Given the description of an element on the screen output the (x, y) to click on. 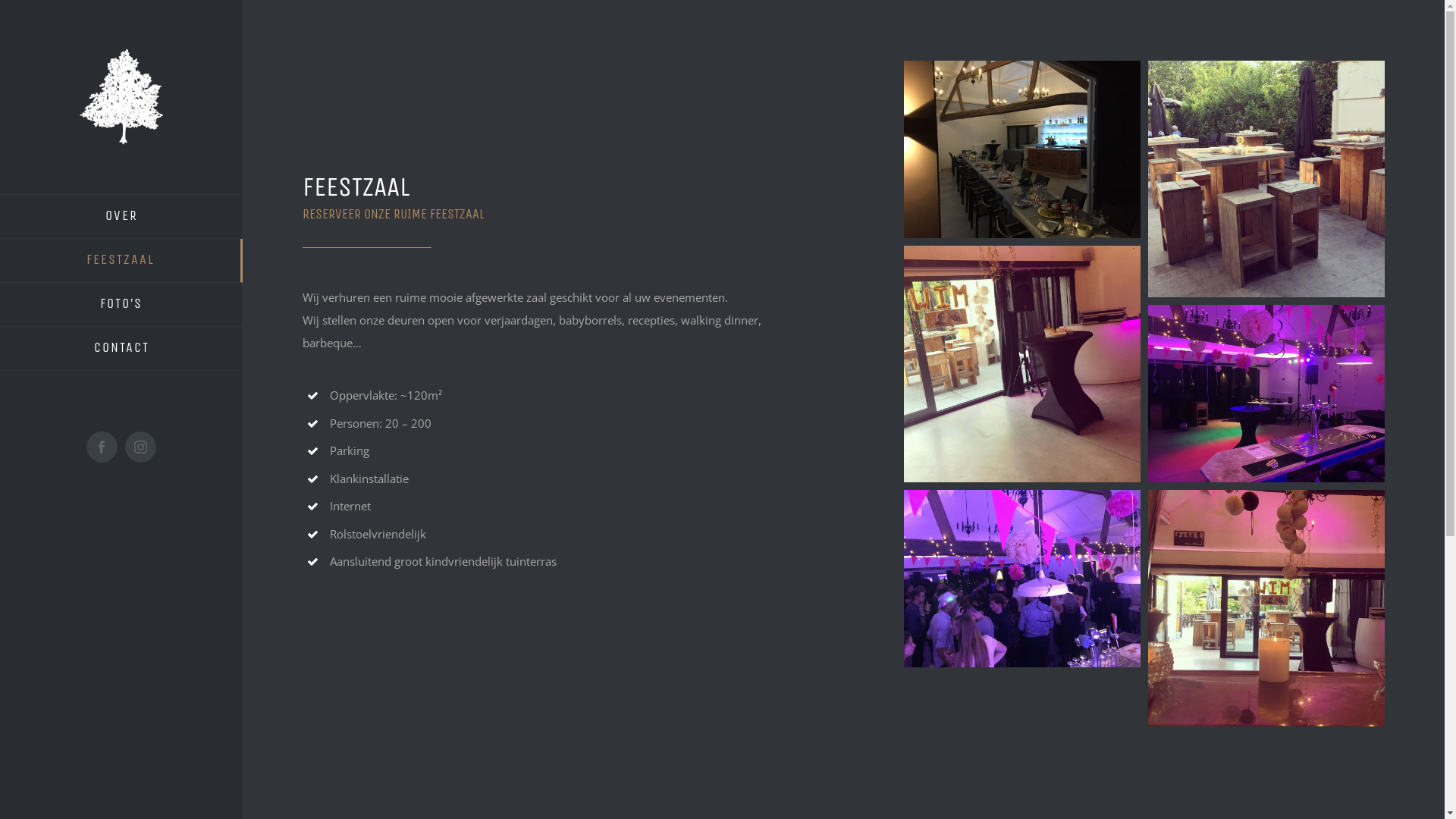
26803957_754918748051800_1713723339_n Element type: hover (1266, 607)
OVER Element type: text (121, 216)
26781702_753889074821434_233210245_o Element type: hover (1266, 393)
8 (1) Element type: hover (1021, 149)
26913589_754918764718465_469718237_n Element type: hover (1021, 363)
26781415_753888914821450_1458851476_o Element type: hover (1021, 578)
CONTACT Element type: text (121, 348)
Instagram Element type: text (140, 446)
26855566_754918761385132_1399916038_n Element type: hover (1266, 178)
Facebook Element type: text (101, 446)
FEESTZAAL Element type: text (121, 260)
